Given the description of an element on the screen output the (x, y) to click on. 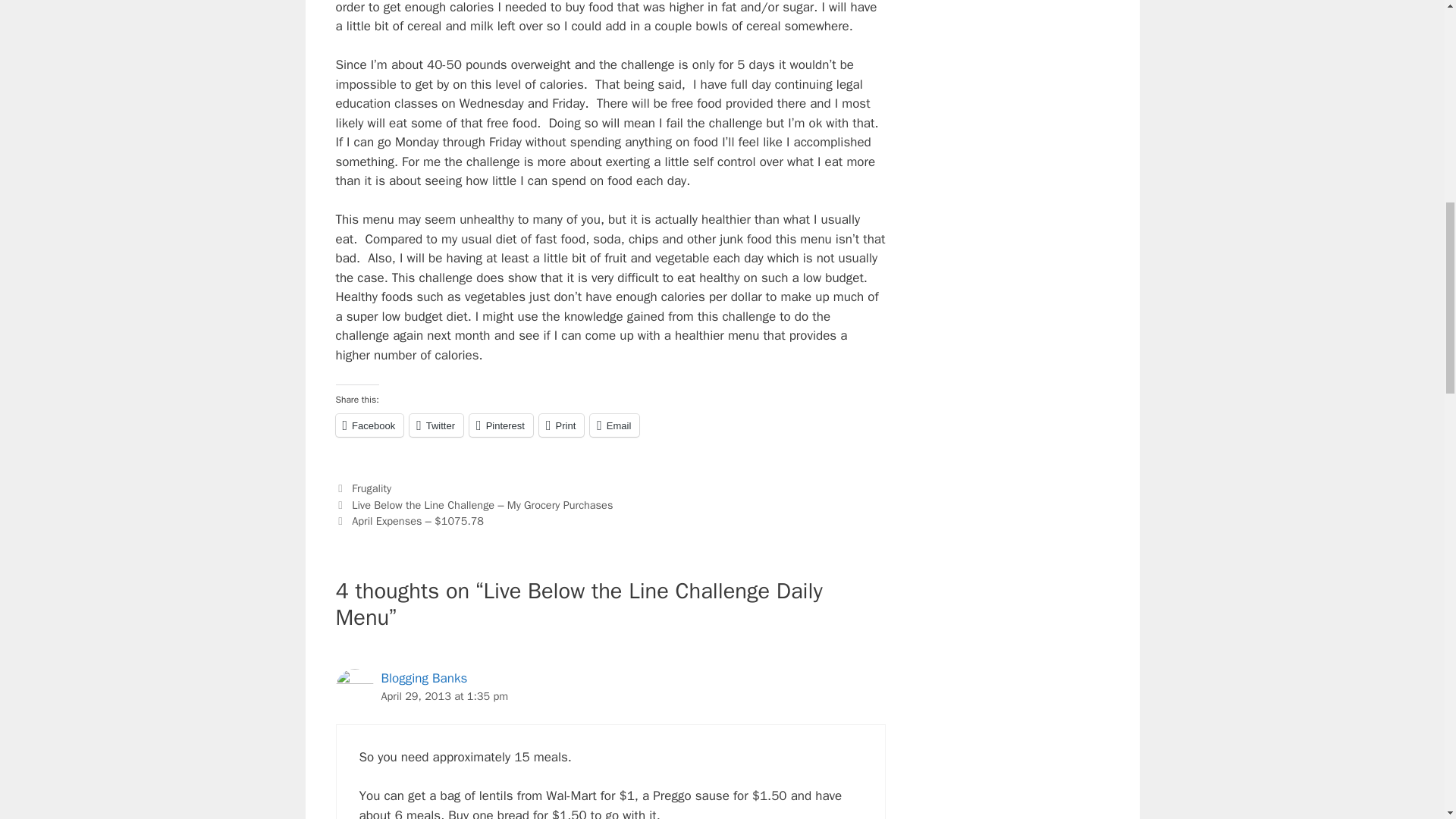
Click to share on Twitter (436, 425)
Frugality (371, 488)
Click to email a link to a friend (614, 425)
Pinterest (500, 425)
April 29, 2013 at 1:35 pm (444, 695)
Blogging Banks (423, 678)
Click to share on Facebook (368, 425)
Email (614, 425)
Facebook (368, 425)
Print (560, 425)
Click to print (560, 425)
Click to share on Pinterest (500, 425)
Twitter (436, 425)
